Given the description of an element on the screen output the (x, y) to click on. 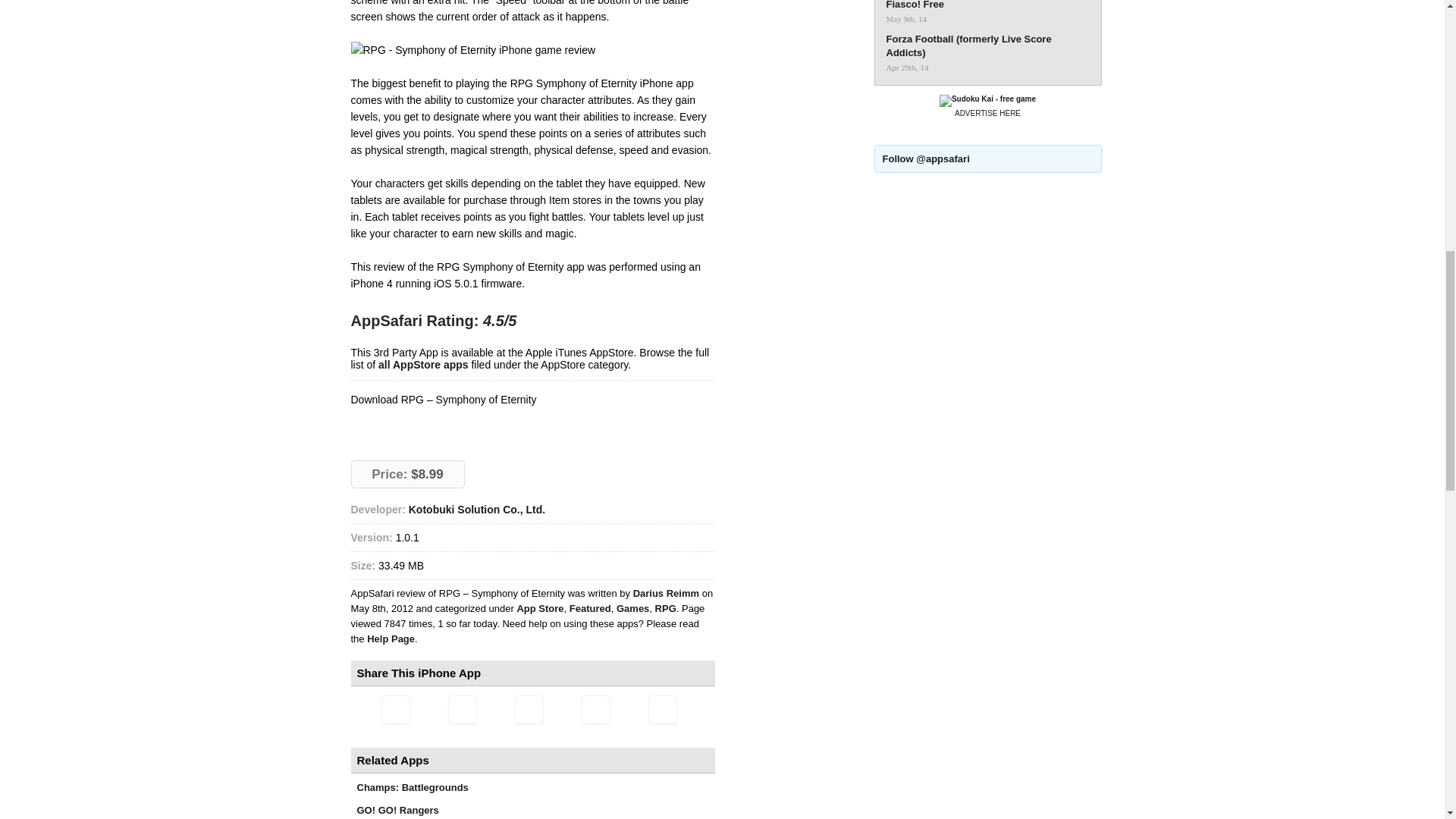
RPG (666, 608)
Tweet this iPhone app review (461, 709)
Email this app to a friend! (394, 709)
Darius Reimm (667, 593)
all AppStore apps (423, 364)
del.icio.us (595, 709)
Kotobuki Solution Co., Ltd. (476, 509)
Help Page (390, 638)
Facebook (528, 709)
at iTunes App Store (407, 426)
